Given the description of an element on the screen output the (x, y) to click on. 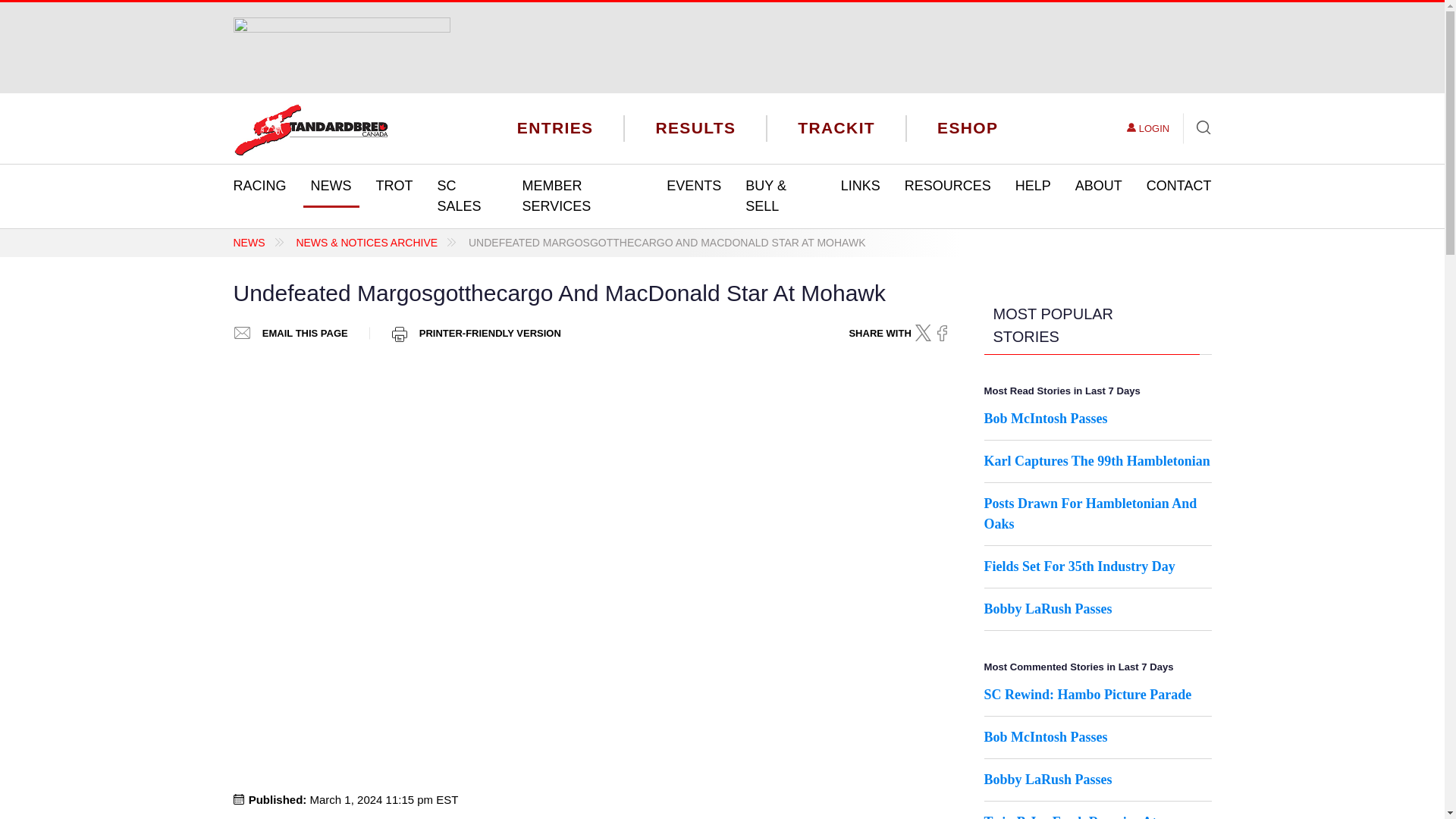
LOGIN (1147, 128)
RACING (259, 186)
SC SALES (467, 196)
TROT (394, 186)
ESHOP (967, 127)
RESULTS (695, 127)
Search (1197, 128)
TRACKIT (836, 127)
ENTRIES (555, 127)
NEWS (330, 186)
